Given the description of an element on the screen output the (x, y) to click on. 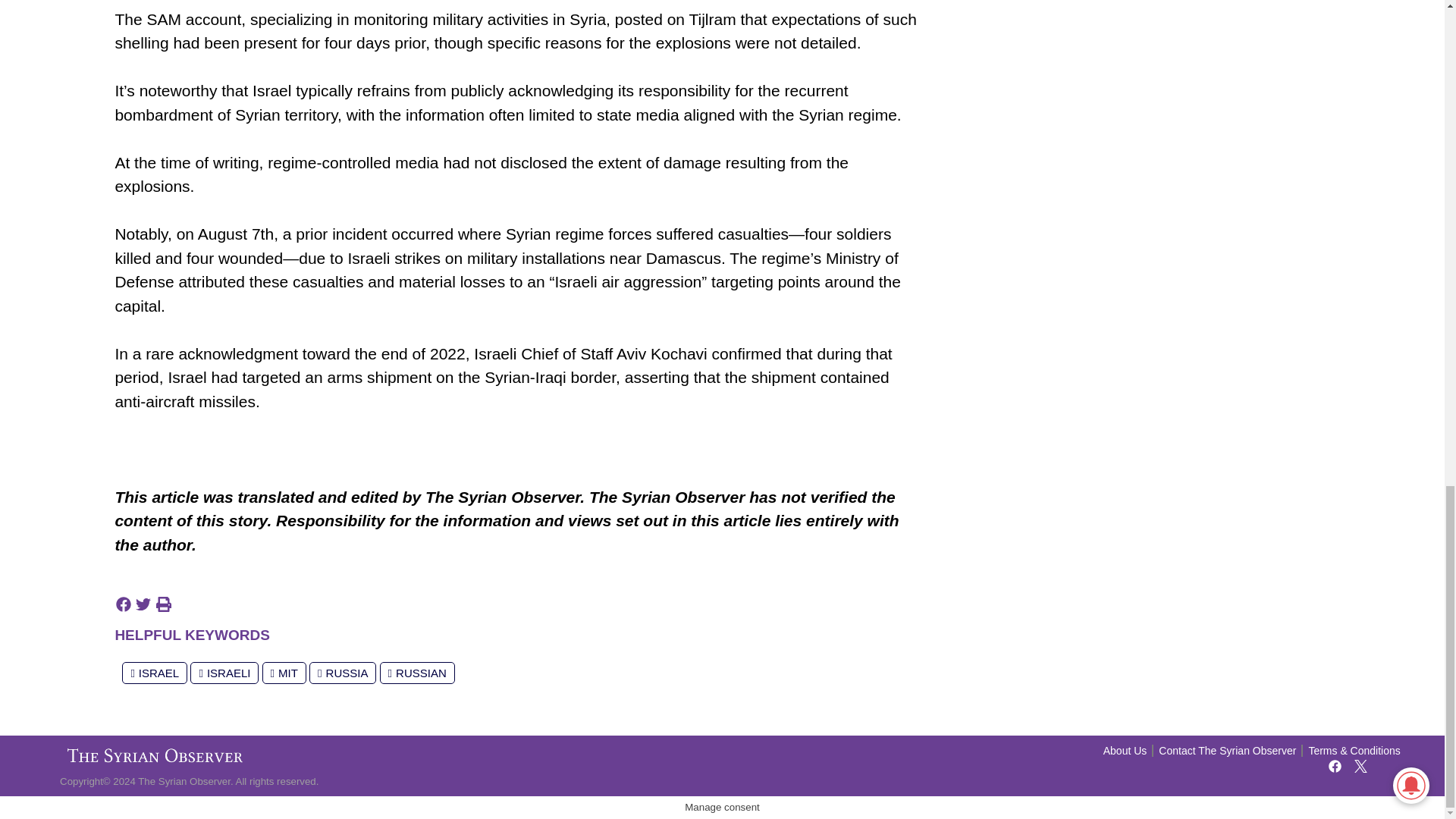
MIT (283, 672)
Contact The Syrian Observer (1227, 750)
RUSSIA (341, 672)
ISRAELI (224, 672)
About Us (1125, 750)
ISRAEL (154, 672)
RUSSIAN (417, 672)
